Given the description of an element on the screen output the (x, y) to click on. 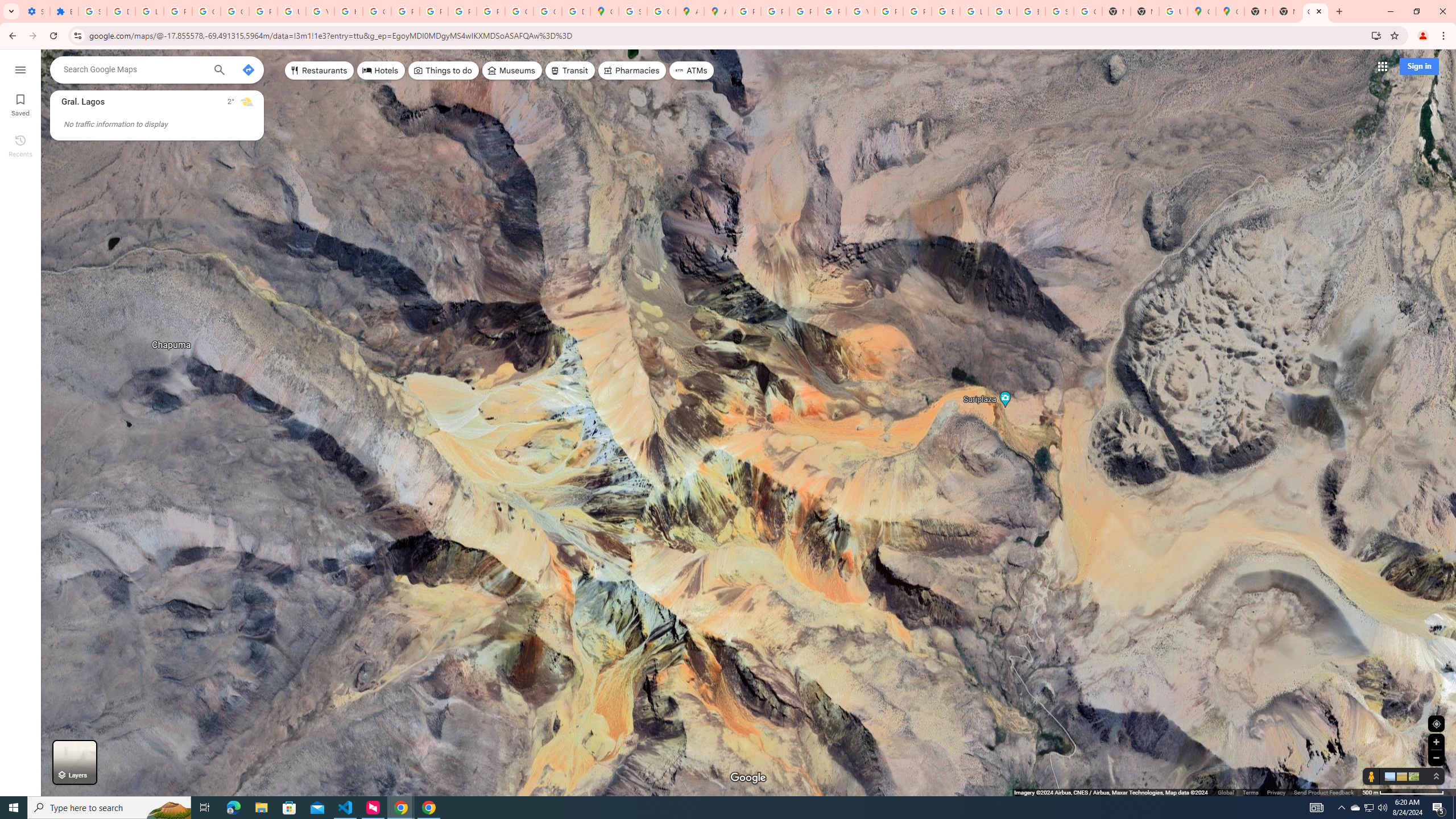
New Tab (1258, 11)
Zoom in (1436, 741)
Privacy Help Center - Policies Help (774, 11)
YouTube (860, 11)
Saved (20, 104)
Install Google Maps (1376, 35)
Sign in - Google Accounts (92, 11)
YouTube (320, 11)
Mostly cloudy (246, 101)
Google Account Help (234, 11)
Policy Accountability and Transparency - Transparency Center (746, 11)
Sign in - Google Accounts (632, 11)
